Given the description of an element on the screen output the (x, y) to click on. 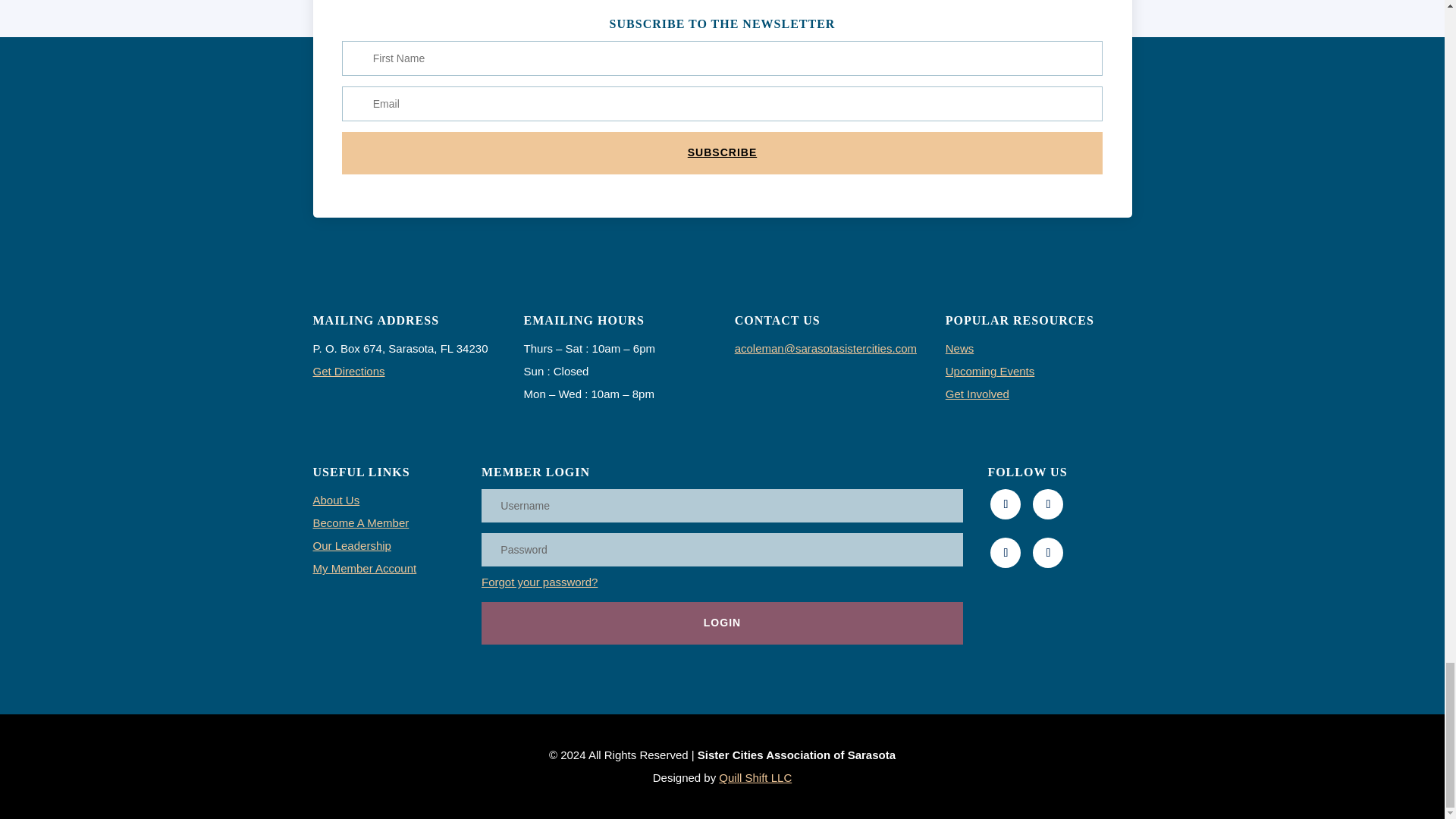
Follow on Instagram (1047, 503)
Follow on Facebook (1005, 503)
Follow on Pinterest (1005, 552)
Follow on X (1047, 552)
